Given the description of an element on the screen output the (x, y) to click on. 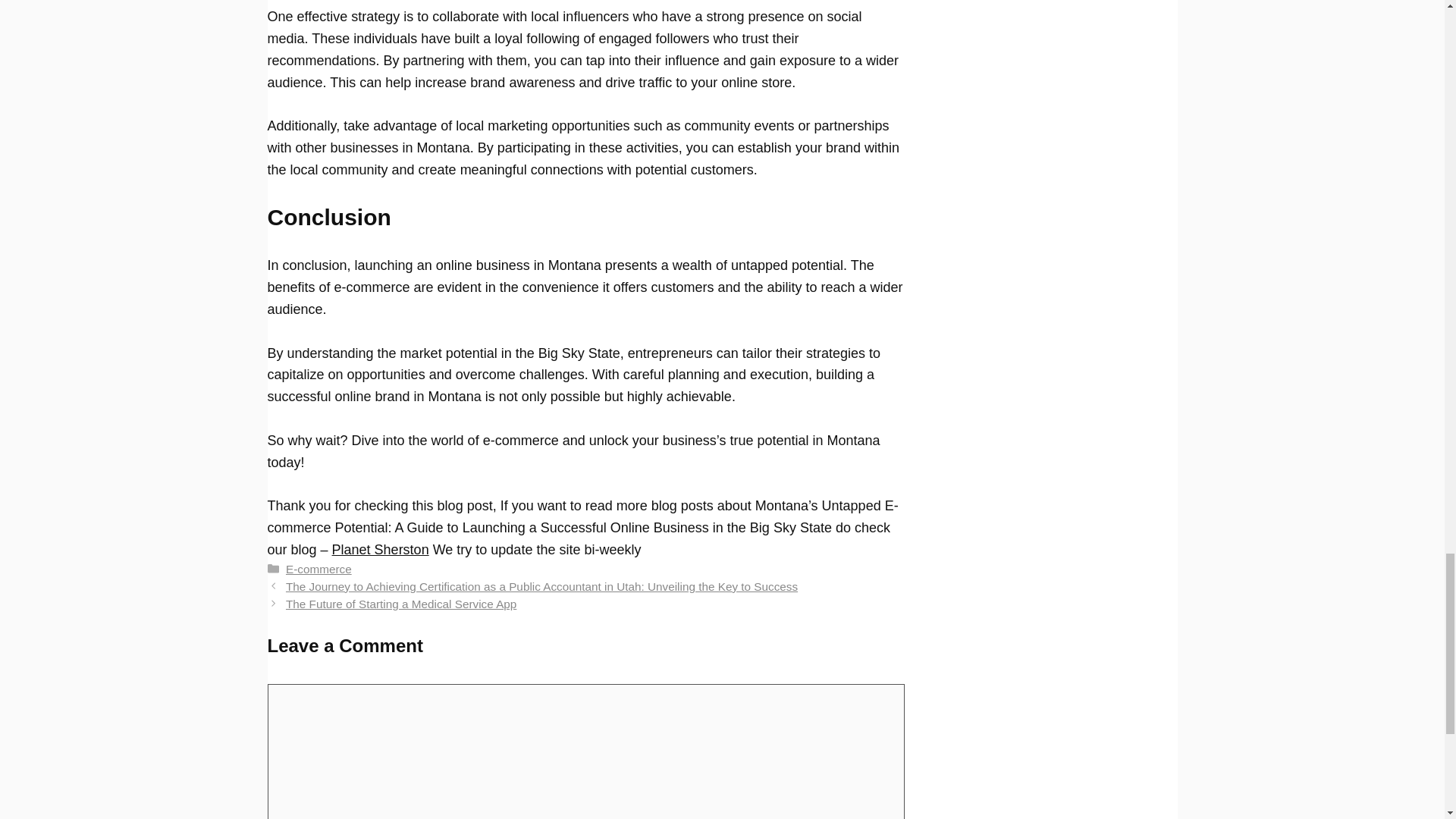
E-commerce (318, 568)
Planet Sherston (380, 549)
The Future of Starting a Medical Service App (400, 603)
